Given the description of an element on the screen output the (x, y) to click on. 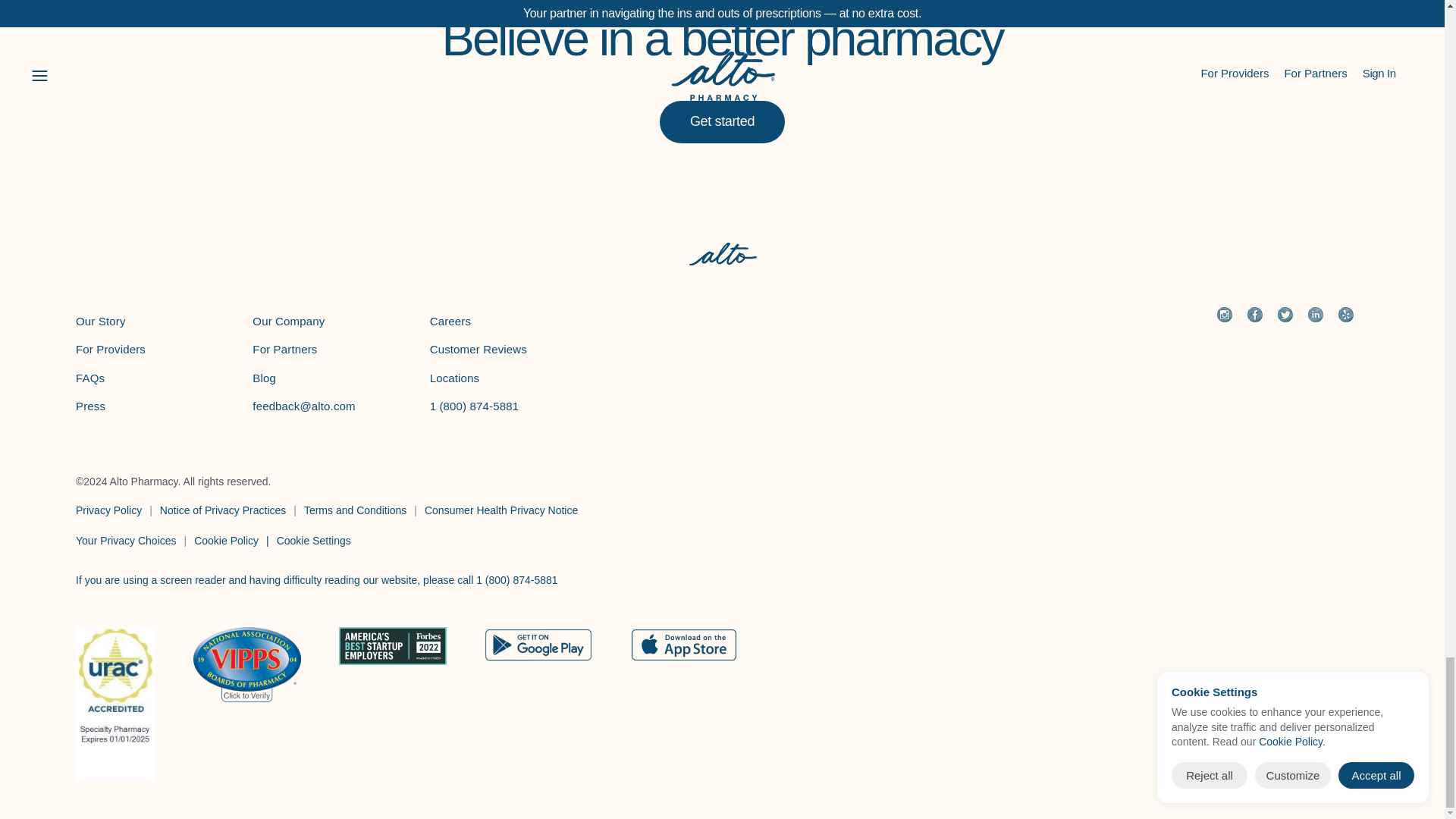
Consumer Health Privacy Notice (501, 510)
Customer Reviews (478, 349)
For Partners (284, 349)
Careers (449, 320)
Locations (454, 377)
Our Story (100, 320)
Blog (263, 377)
FAQs (89, 377)
Our Company (287, 320)
Press (89, 405)
Privacy Policy (108, 510)
Your Privacy Choices (125, 540)
Get started (721, 121)
Terms and Conditions (355, 510)
Notice of Privacy Practices (223, 510)
